Given the description of an element on the screen output the (x, y) to click on. 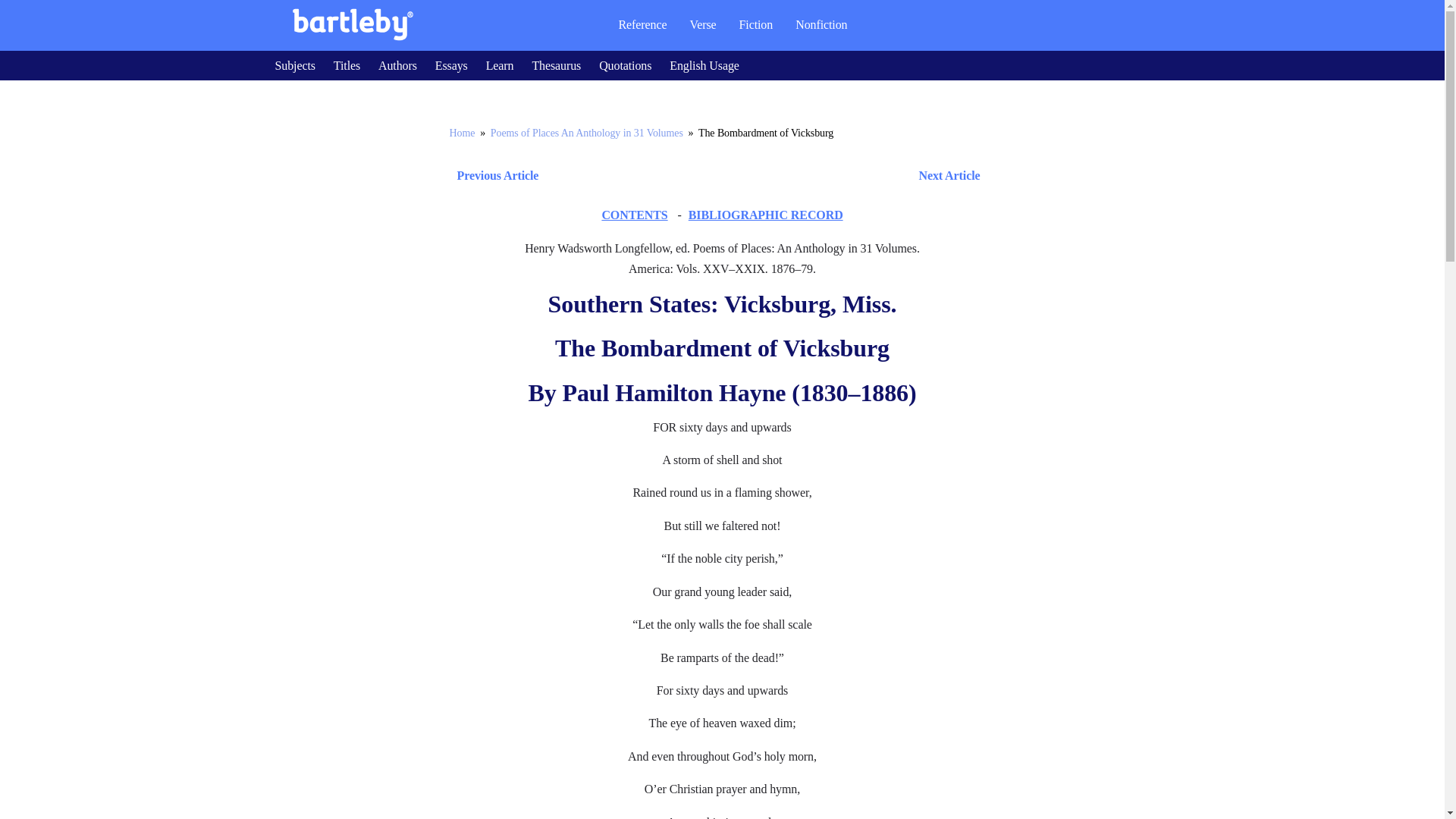
Fiction (756, 24)
Quotations (624, 65)
Essays (451, 65)
Verse (702, 24)
Reference (642, 24)
Poems of Places An Anthology in 31 Volumes (586, 132)
Nonfiction (821, 24)
Subjects (294, 65)
English Usage (704, 65)
CONTENTS (633, 214)
Titles (346, 65)
Next Article (766, 175)
BIBLIOGRAPHIC RECORD (765, 214)
Home (461, 132)
Thesaurus (555, 65)
